Given the description of an element on the screen output the (x, y) to click on. 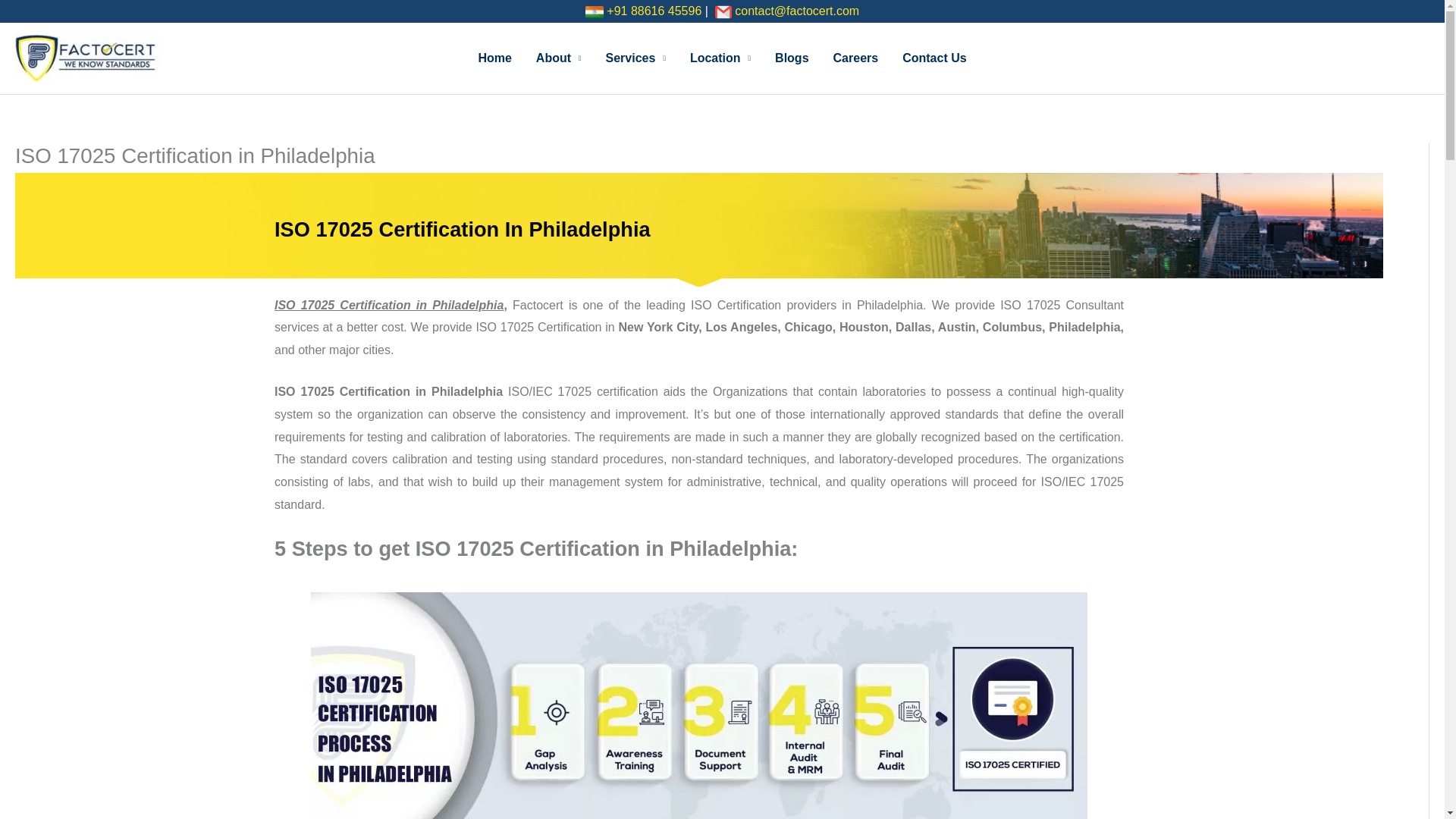
Home (493, 57)
About (559, 57)
Services (636, 57)
